Given the description of an element on the screen output the (x, y) to click on. 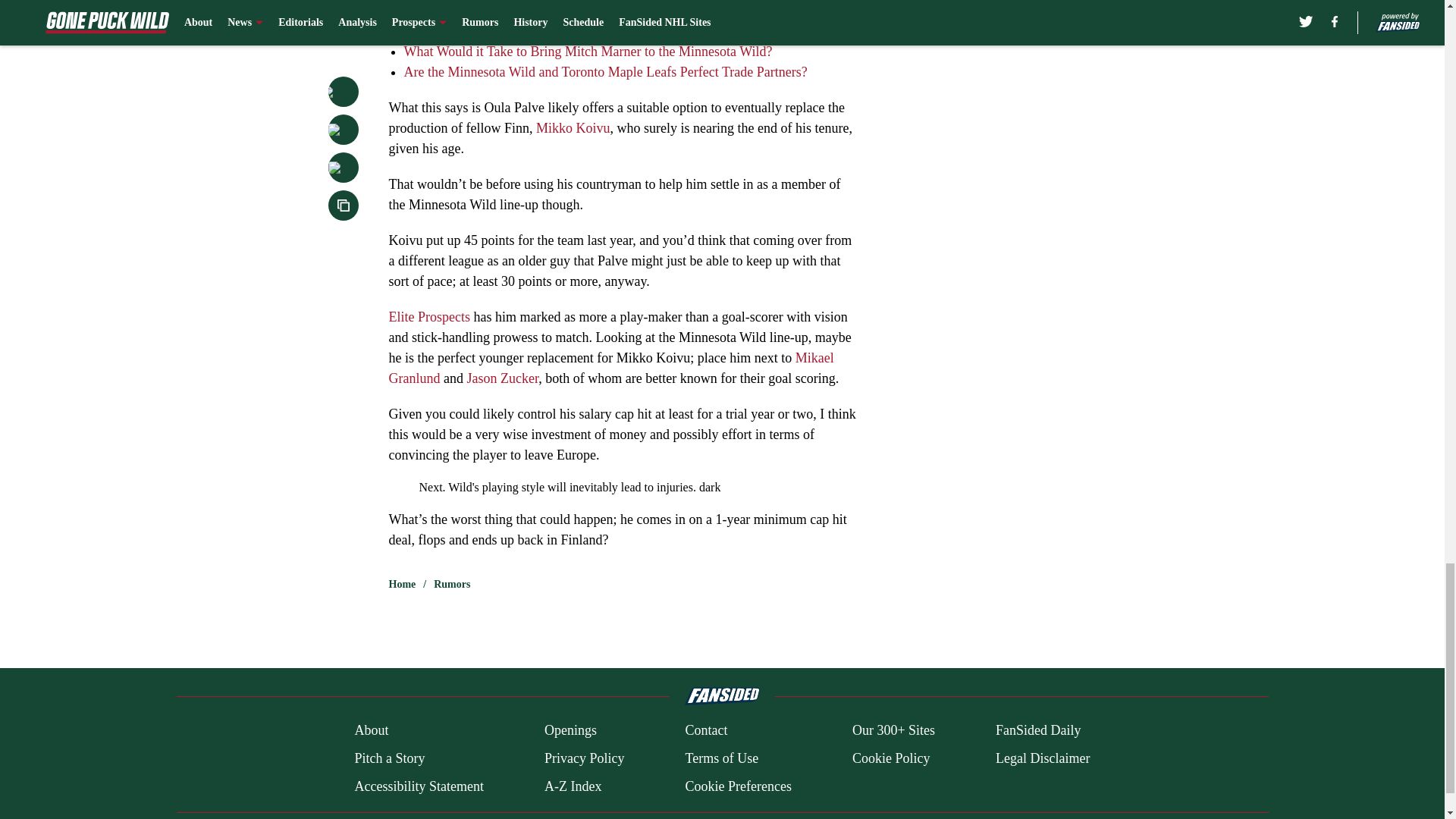
Contact (705, 730)
Mikko Koivu (572, 127)
Openings (570, 730)
Mikael Granlund (610, 367)
Rumors (451, 584)
Home (401, 584)
Elite Prospects (428, 316)
Jason Zucker (501, 378)
